Given the description of an element on the screen output the (x, y) to click on. 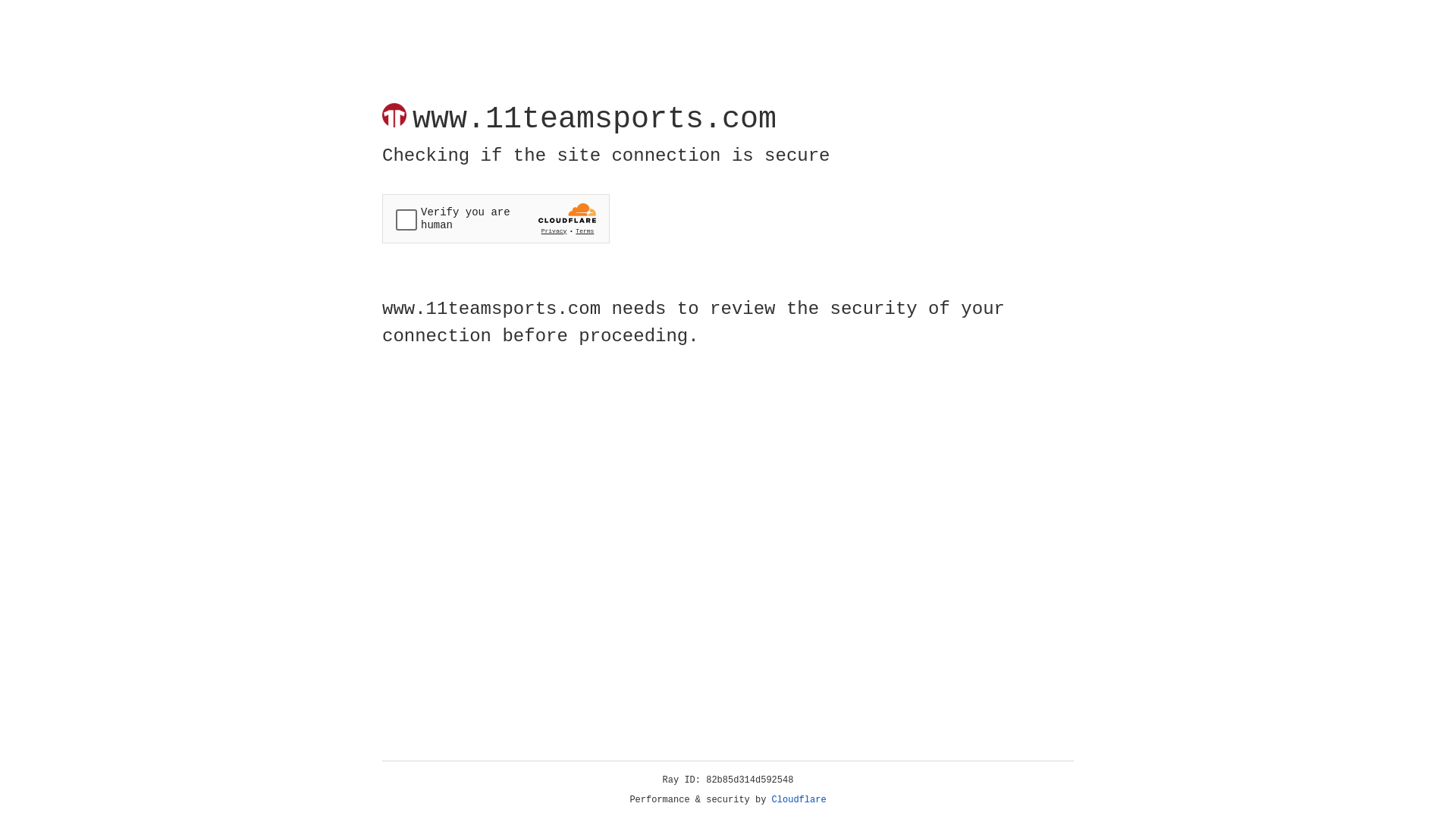
Cloudflare Element type: text (798, 799)
Widget containing a Cloudflare security challenge Element type: hover (495, 218)
